Given the description of an element on the screen output the (x, y) to click on. 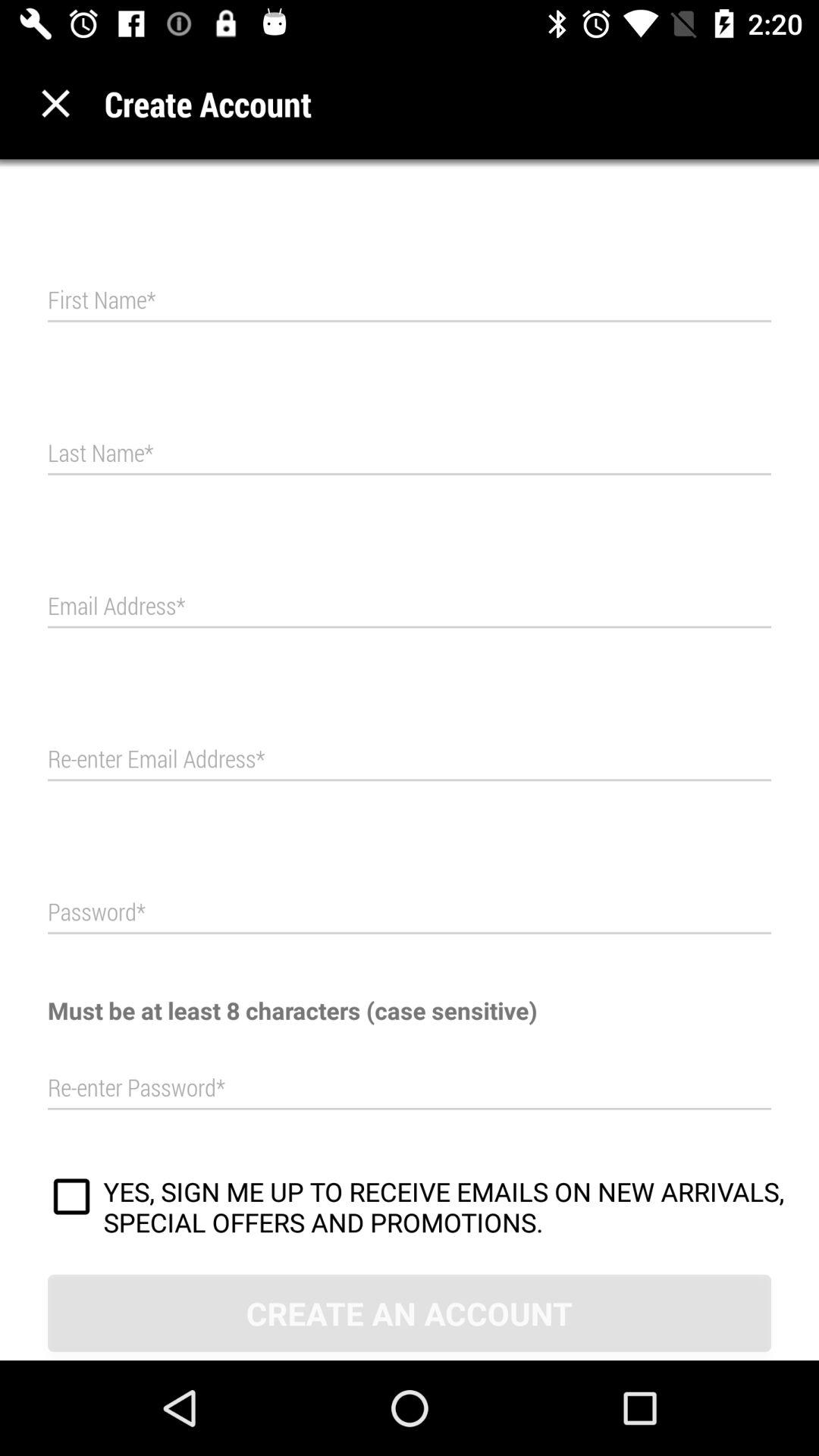
click to sign up for special offers and promotions (71, 1198)
